Given the description of an element on the screen output the (x, y) to click on. 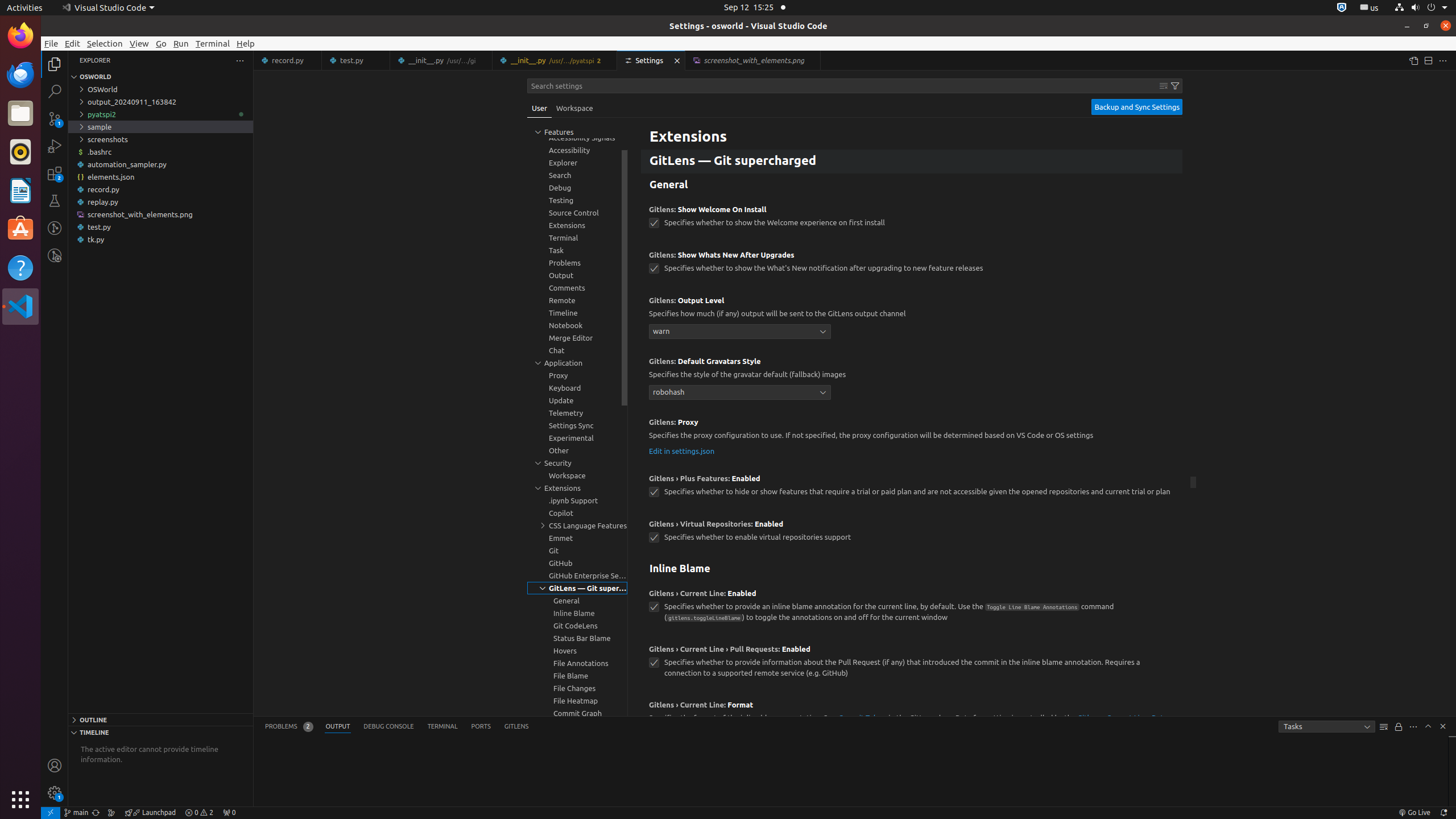
Application, group Element type: tree-item (577, 362)
Github-enterprise Uri. GitHub Enterprise Server URI  Element type: tree-item (911, 119)
record.py Element type: page-tab (287, 60)
Gitlens › Current Line: Date Format Element type: link (907, 722)
